Given the description of an element on the screen output the (x, y) to click on. 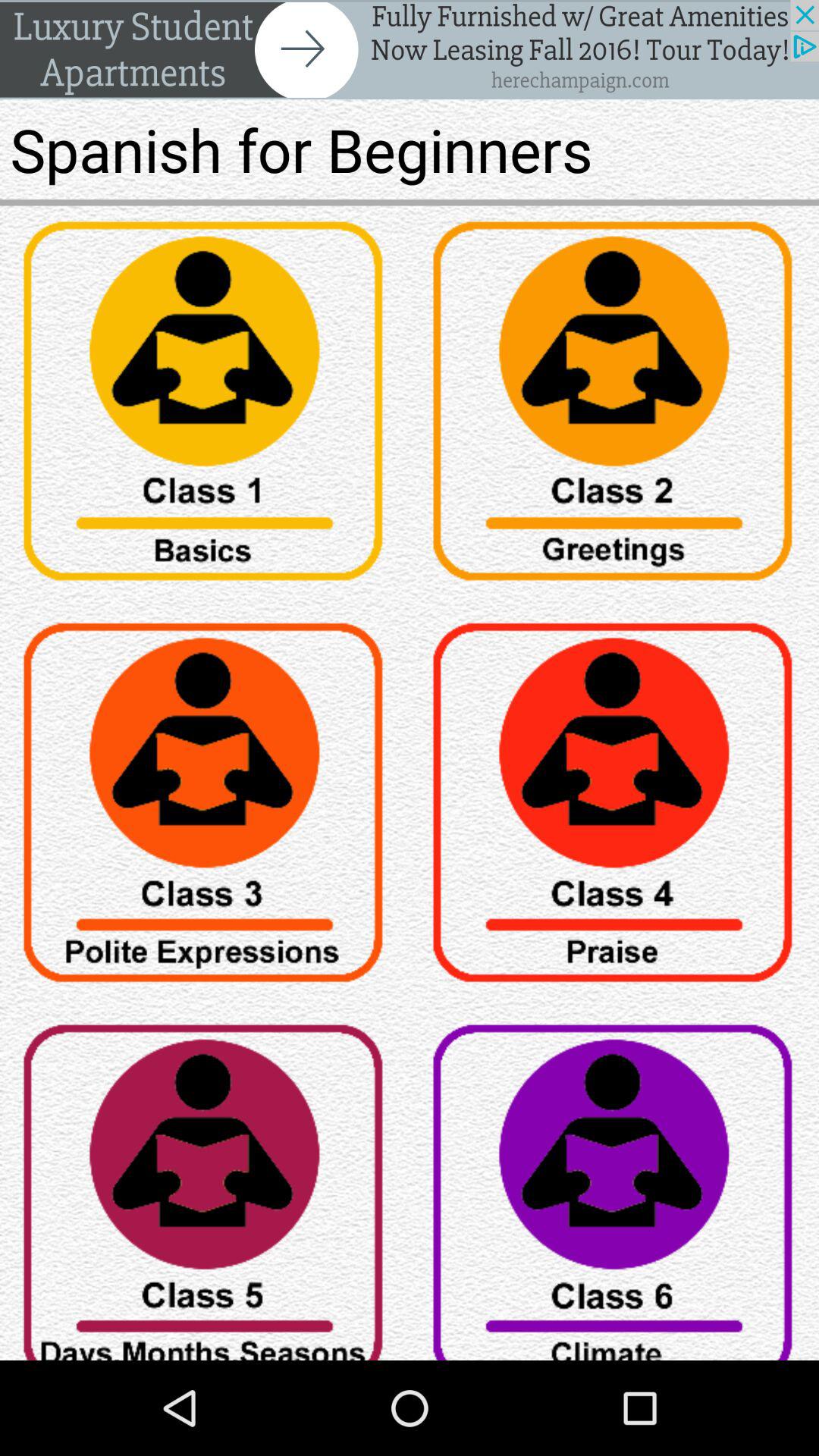
choose level difficulty (614, 1184)
